Given the description of an element on the screen output the (x, y) to click on. 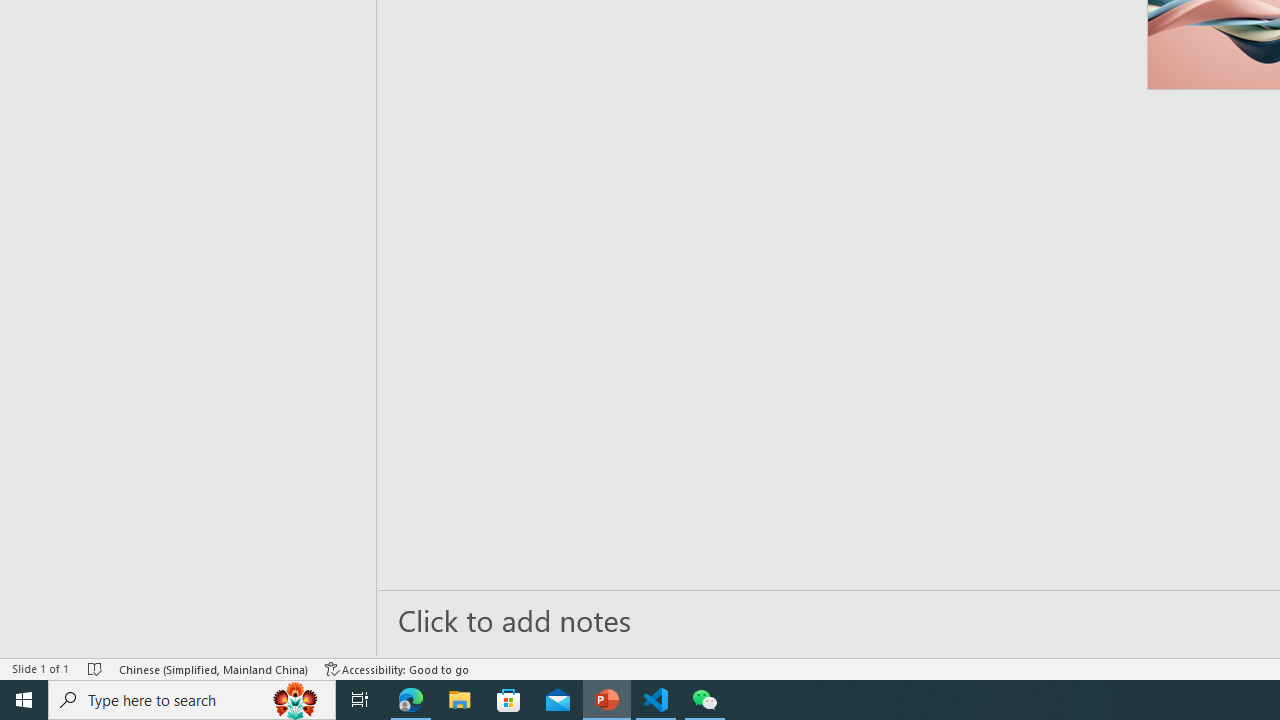
Accessibility Checker Accessibility: Good to go (397, 668)
